Given the description of an element on the screen output the (x, y) to click on. 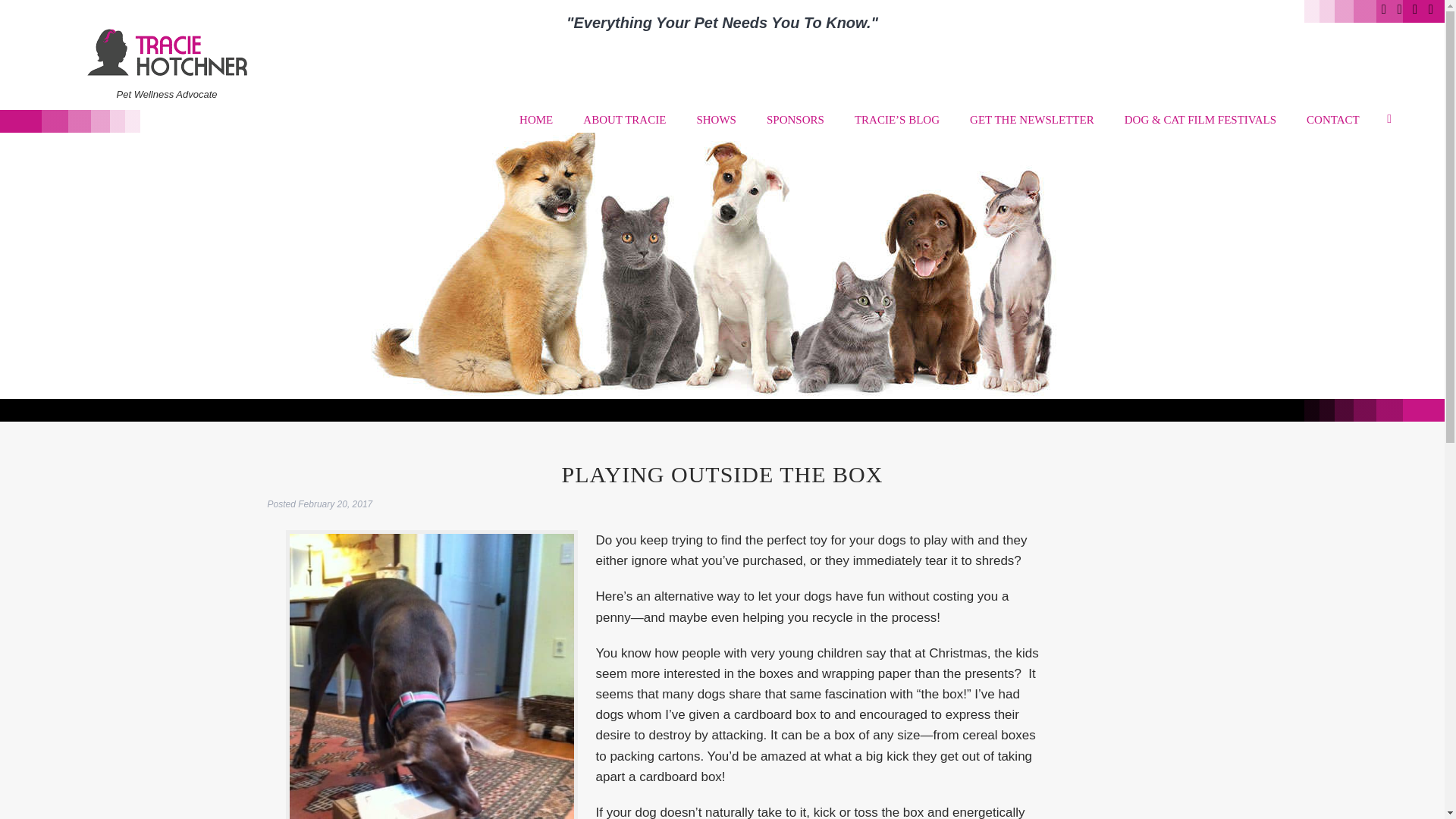
CONTACT (1328, 119)
SHOWS (711, 119)
ABOUT TRACIE (619, 119)
GET THE NEWSLETTER (1027, 119)
SPONSORS (790, 119)
HOME (532, 119)
